Given the description of an element on the screen output the (x, y) to click on. 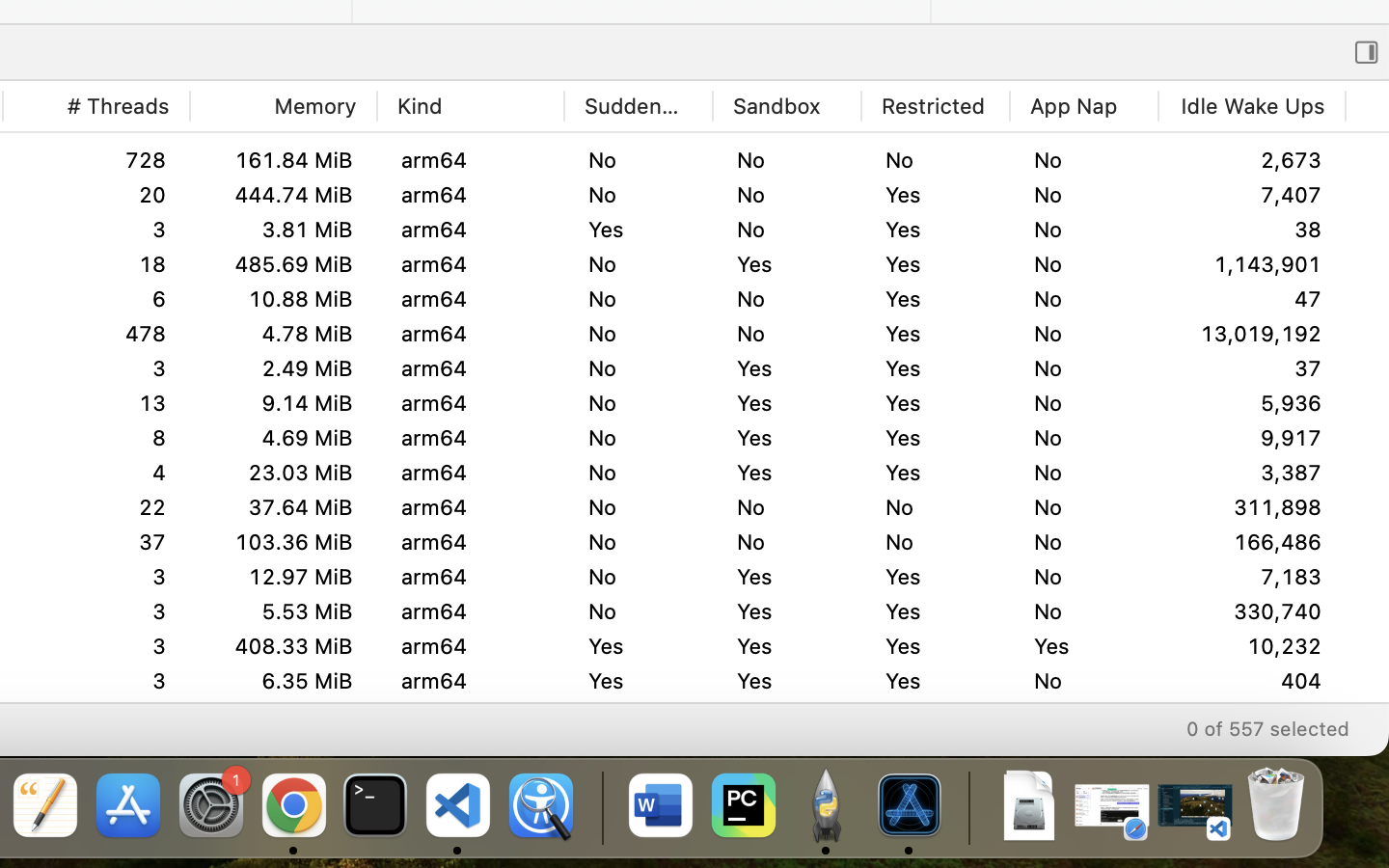
6 Element type: AXStaticText (96, 298)
10,199 Element type: AXStaticText (1251, 645)
0.4285714328289032 Element type: AXDockItem (598, 807)
3,473 Element type: AXStaticText (1251, 159)
3,387 Element type: AXStaticText (1251, 576)
